Given the description of an element on the screen output the (x, y) to click on. 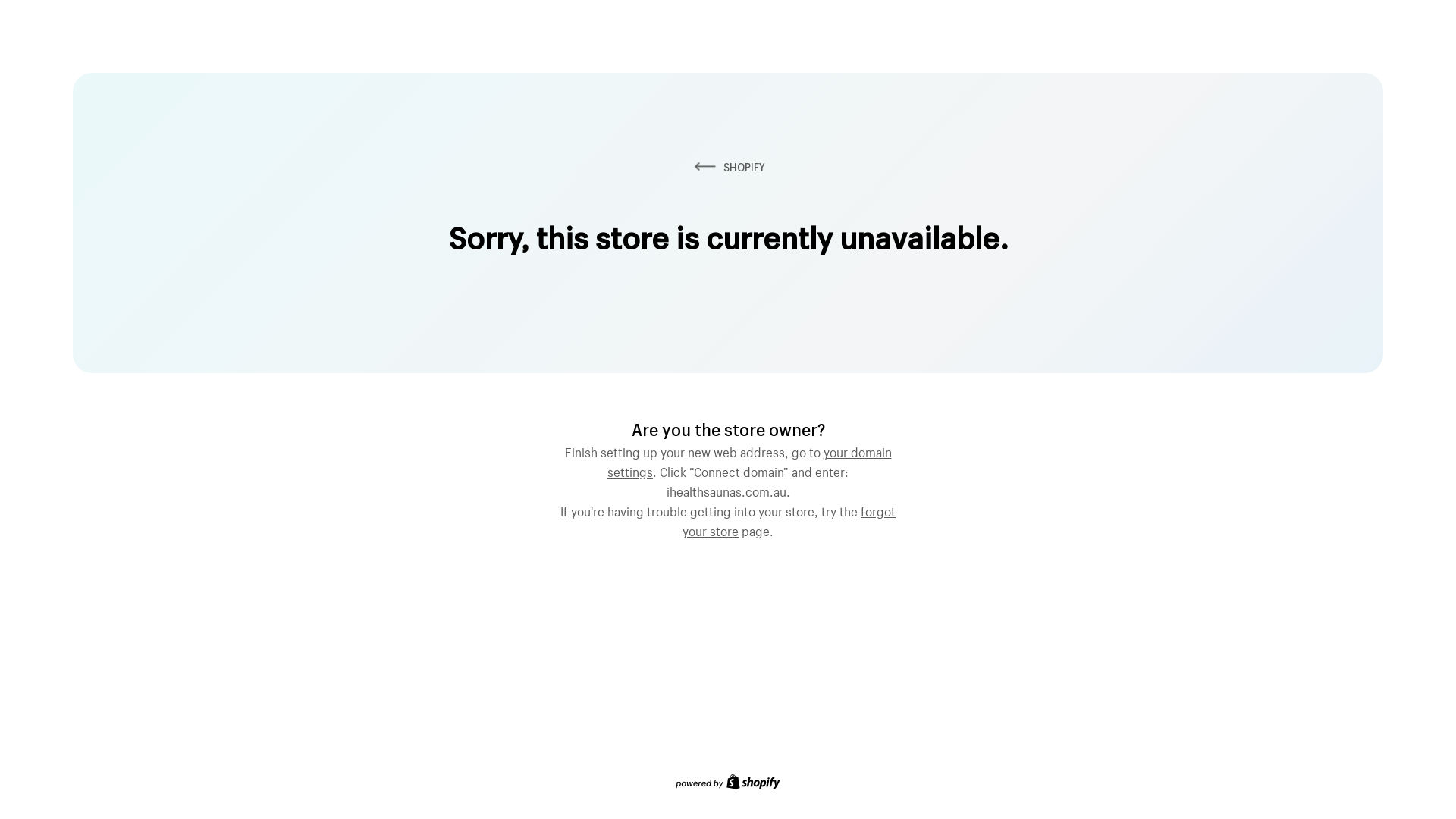
forgot your store Element type: text (788, 519)
your domain settings Element type: text (749, 460)
SHOPIFY Element type: text (727, 167)
